Given the description of an element on the screen output the (x, y) to click on. 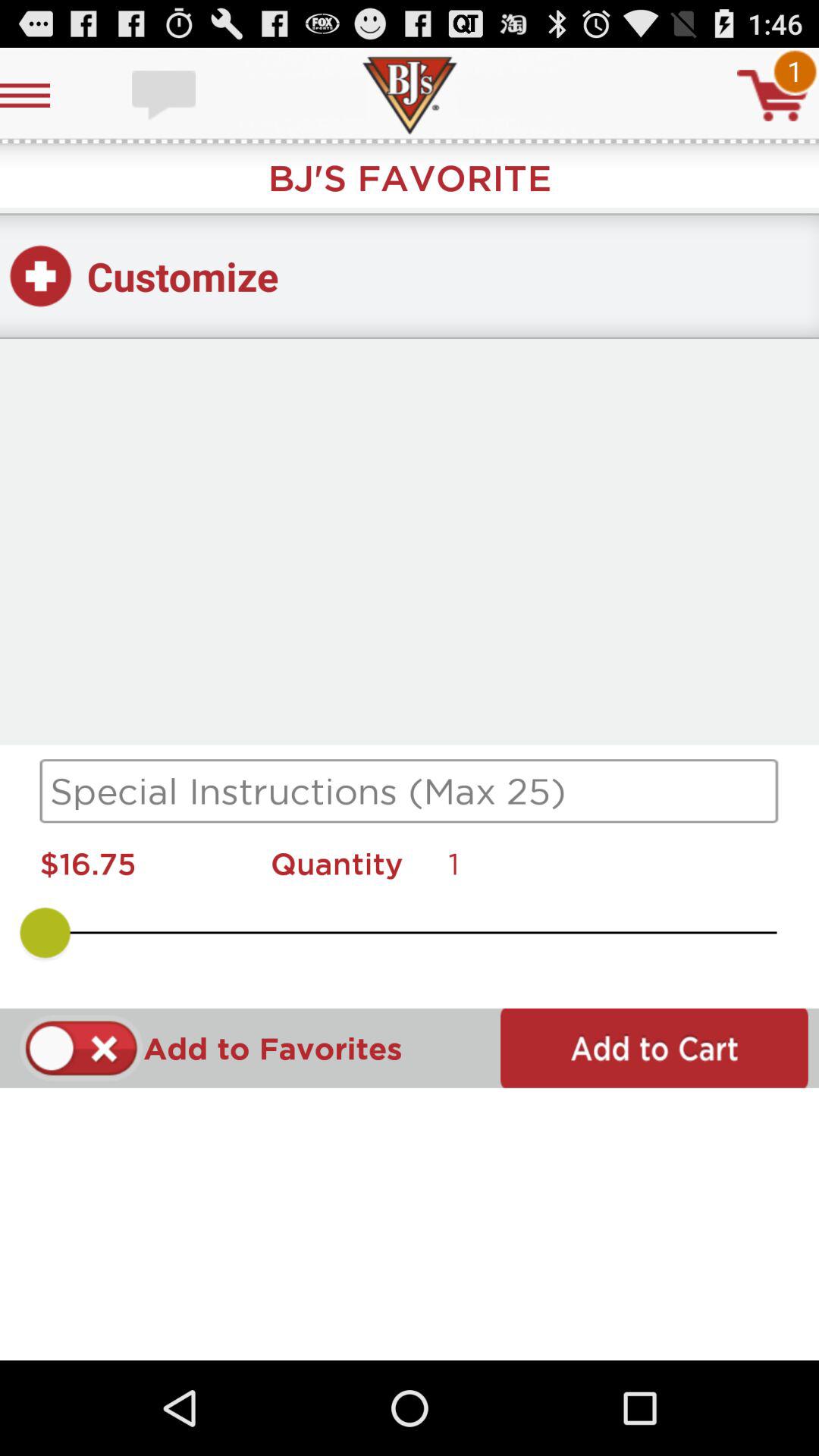
add to cart (654, 1048)
